Given the description of an element on the screen output the (x, y) to click on. 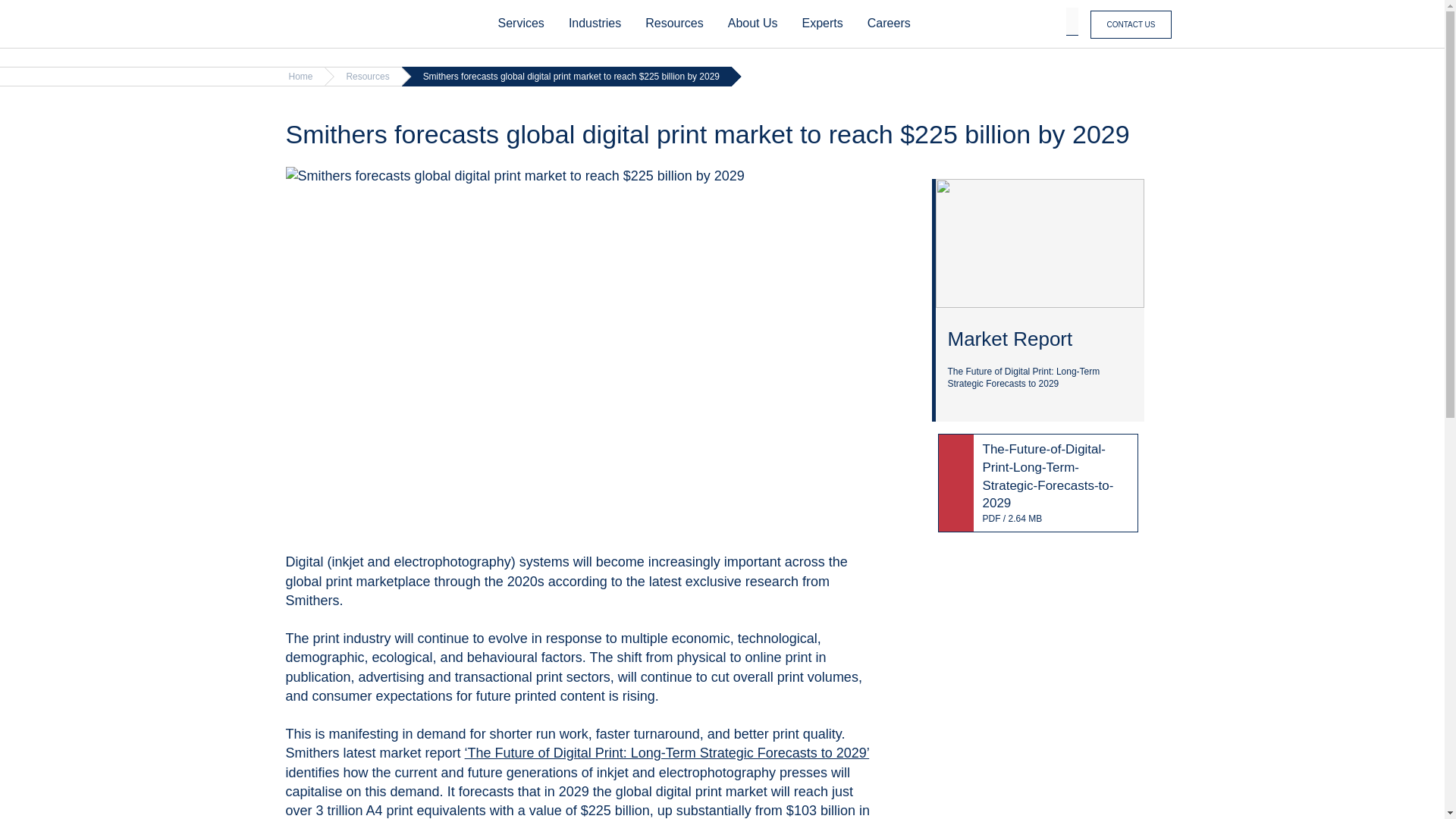
Services (521, 23)
Home (369, 23)
Industries (594, 23)
